Given the description of an element on the screen output the (x, y) to click on. 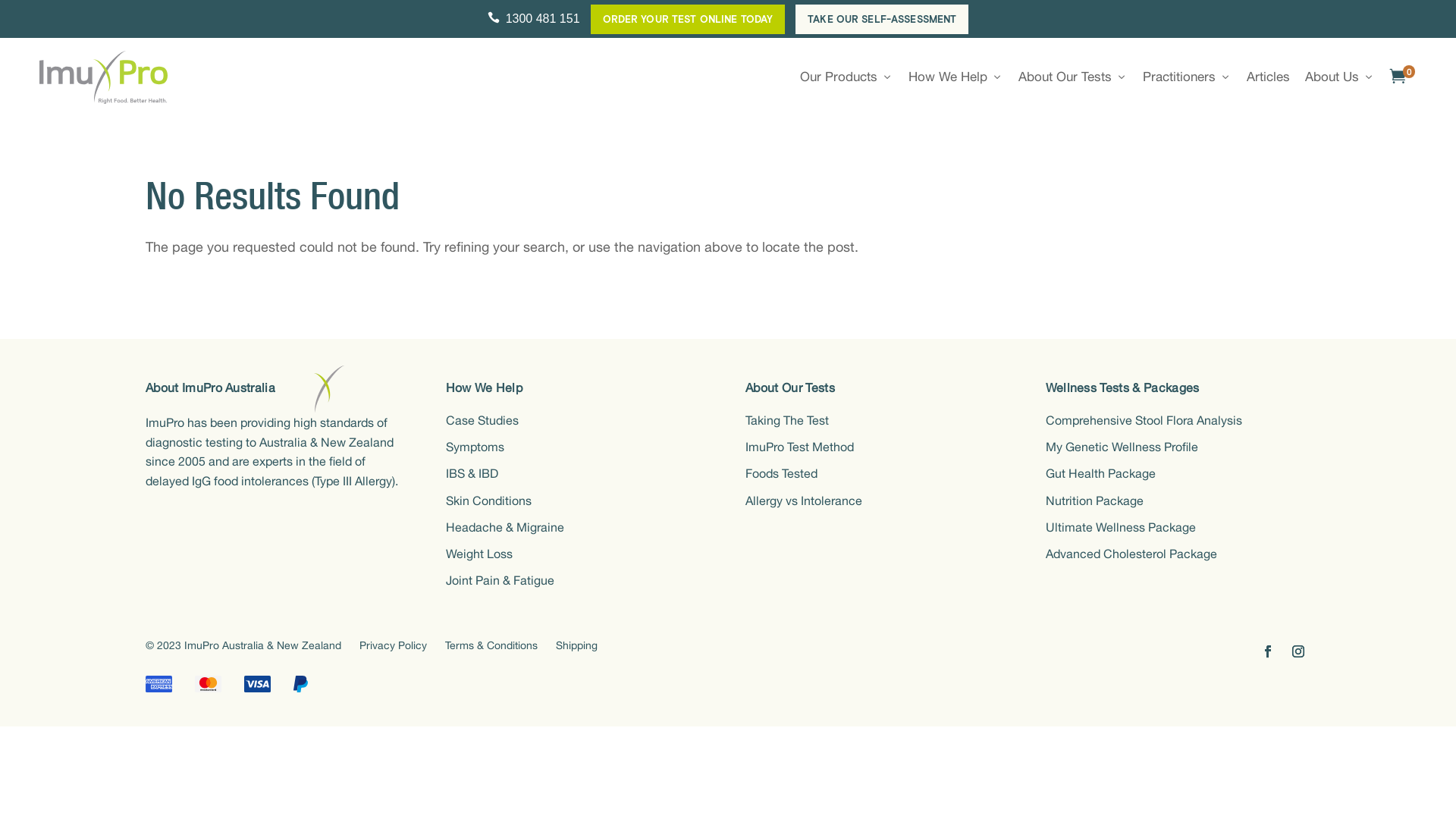
Our Products Element type: text (846, 80)
Shipping Element type: text (576, 645)
ImuPro Test Method Element type: text (799, 447)
Practitioners Element type: text (1186, 80)
My Genetic Wellness Profile Element type: text (1121, 447)
ORDER YOUR TEST ONLINE TODAY Element type: text (687, 19)
Nutrition Package Element type: text (1094, 500)
Terms & Conditions Element type: text (491, 645)
How We Help Element type: text (955, 80)
Taking The Test Element type: text (786, 420)
Case Studies Element type: text (481, 420)
About Us Element type: text (1339, 80)
About Our Tests Element type: text (1072, 80)
Privacy Policy Element type: text (392, 645)
Gut Health Package Element type: text (1100, 473)
Ultimate Wellness Package Element type: text (1120, 527)
paypal Element type: hover (300, 683)
Allergy vs Intolerance Element type: text (803, 500)
visa Element type: hover (257, 683)
Follow on Instagram Element type: hover (1298, 651)
amex Element type: hover (158, 683)
IBS & IBD Element type: text (471, 473)
Symptoms Element type: text (474, 447)
Skin Conditions Element type: text (488, 500)
Articles Element type: text (1267, 80)
Advanced Cholesterol Package Element type: text (1131, 553)
Follow on Facebook Element type: hover (1267, 651)
Weight Loss Element type: text (478, 553)
Comprehensive Stool Flora Analysis Element type: text (1143, 420)
Foods Tested Element type: text (781, 473)
TAKE OUR SELF-ASSESSMENT Element type: text (881, 19)
Headache & Migraine Element type: text (504, 527)
Joint Pain & Fatigue Element type: text (499, 580)
1300 481 151 Element type: text (533, 19)
mastercard Element type: hover (207, 683)
